Given the description of an element on the screen output the (x, y) to click on. 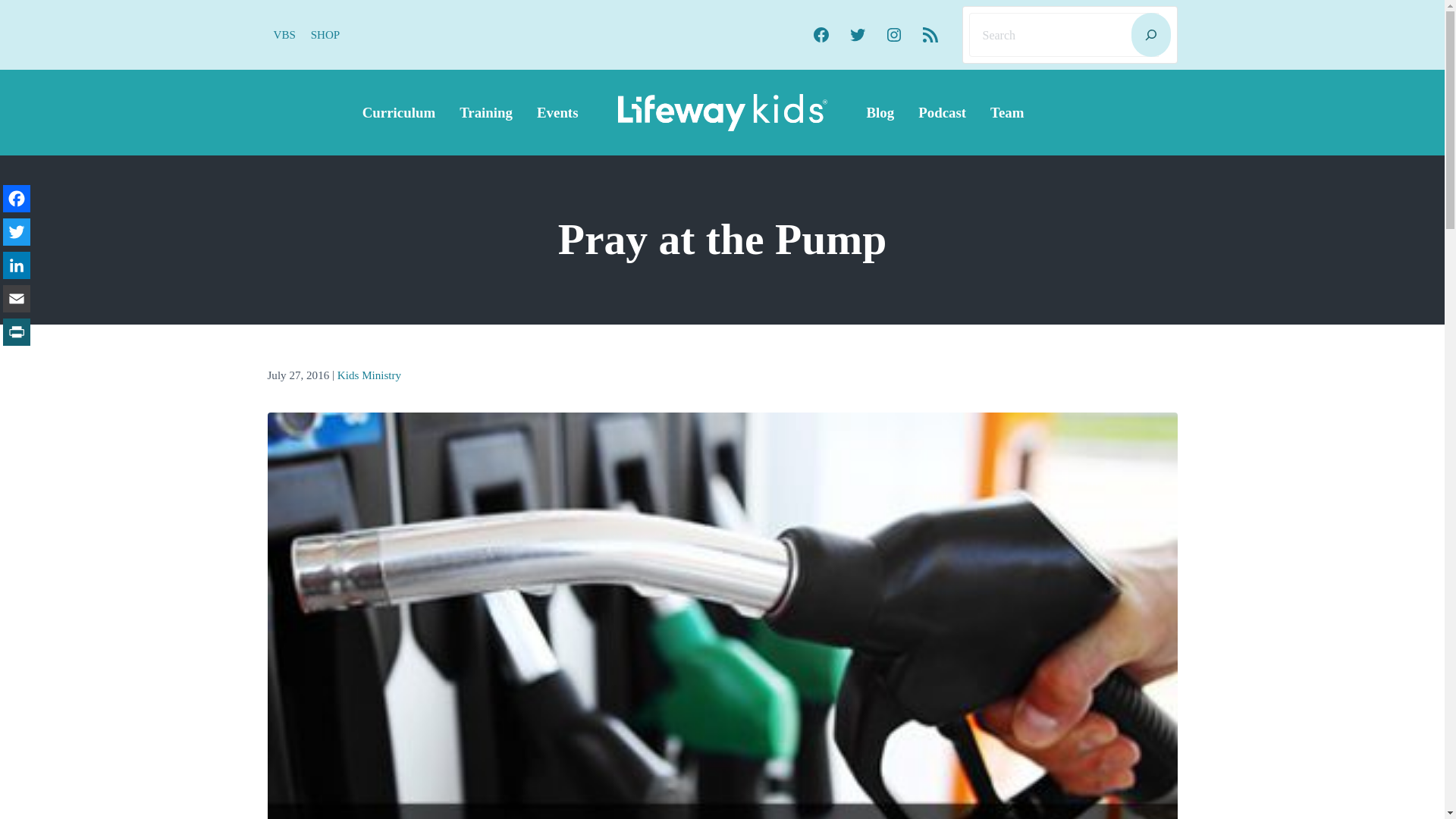
LinkedIn (16, 264)
Curriculum (398, 112)
VBS (283, 34)
Events (557, 112)
Team (1006, 112)
Instagram (893, 34)
Blog (879, 112)
Kids Ministry (369, 376)
Print (16, 331)
